Given the description of an element on the screen output the (x, y) to click on. 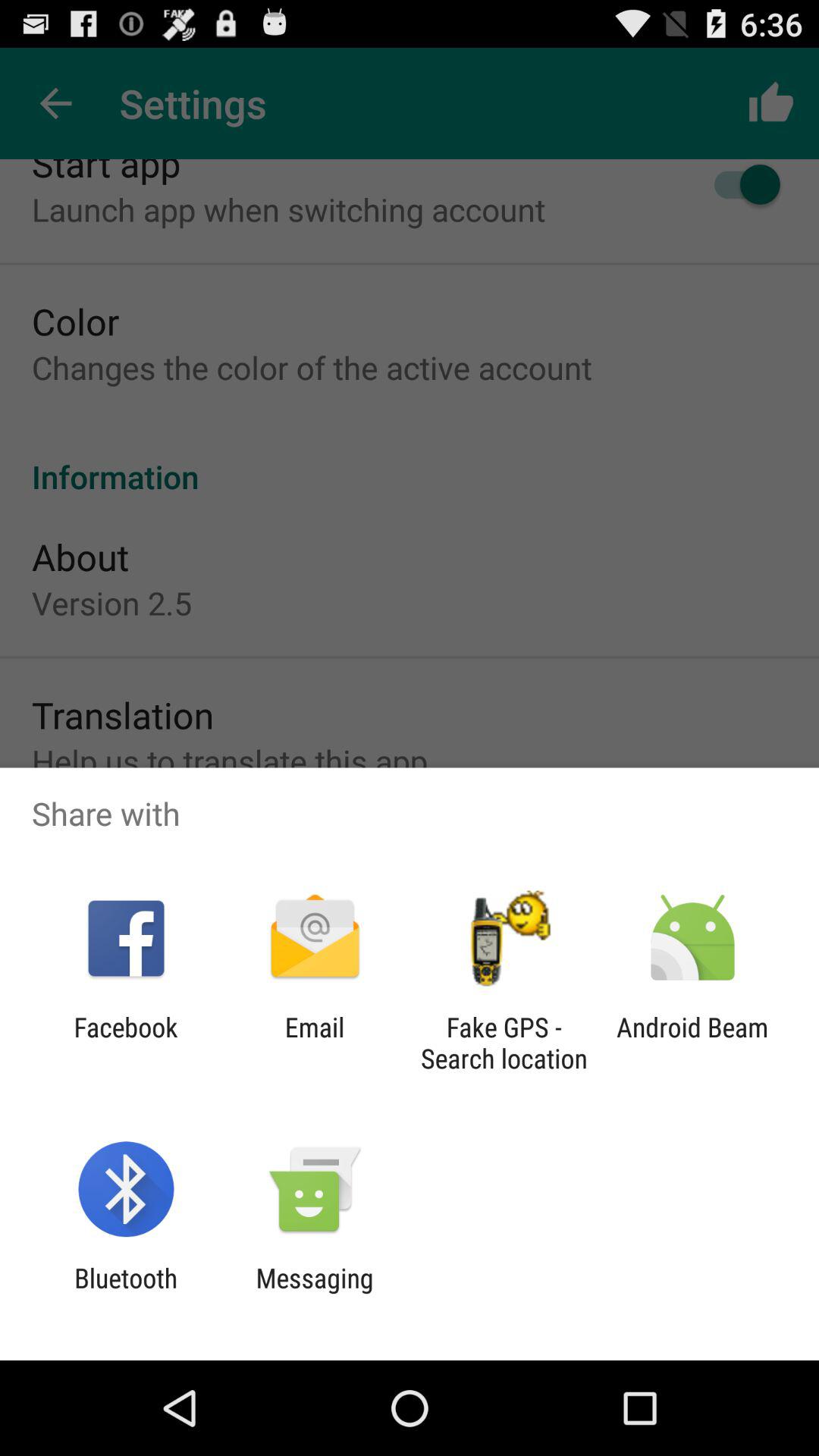
press icon next to fake gps search item (692, 1042)
